Given the description of an element on the screen output the (x, y) to click on. 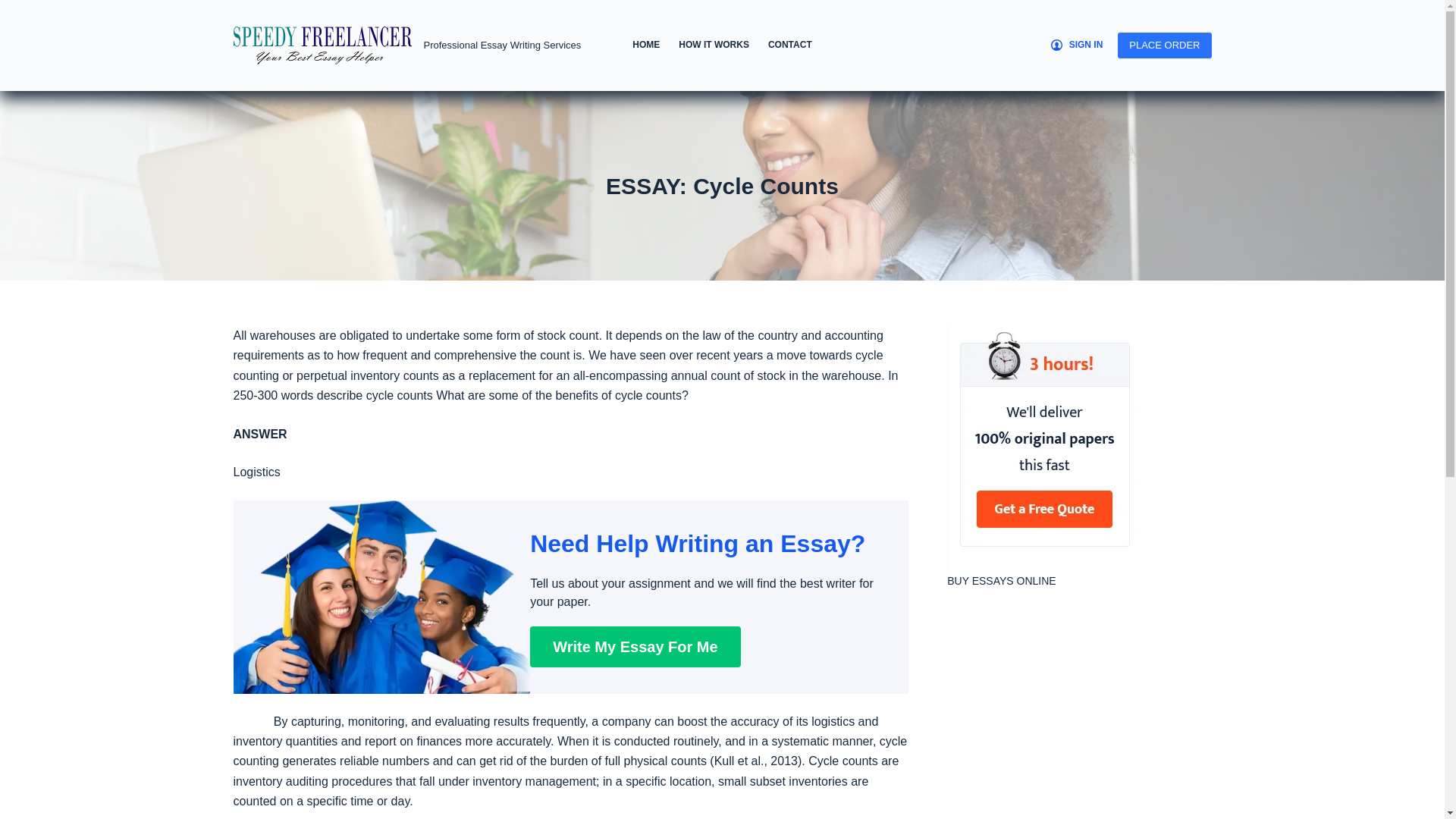
Skip to content (15, 7)
HOW IT WORKS (713, 45)
PLACE ORDER (1164, 45)
ESSAY: Cycle Counts (722, 185)
Write My Essay For Me (634, 646)
SIGN IN (1076, 45)
